Given the description of an element on the screen output the (x, y) to click on. 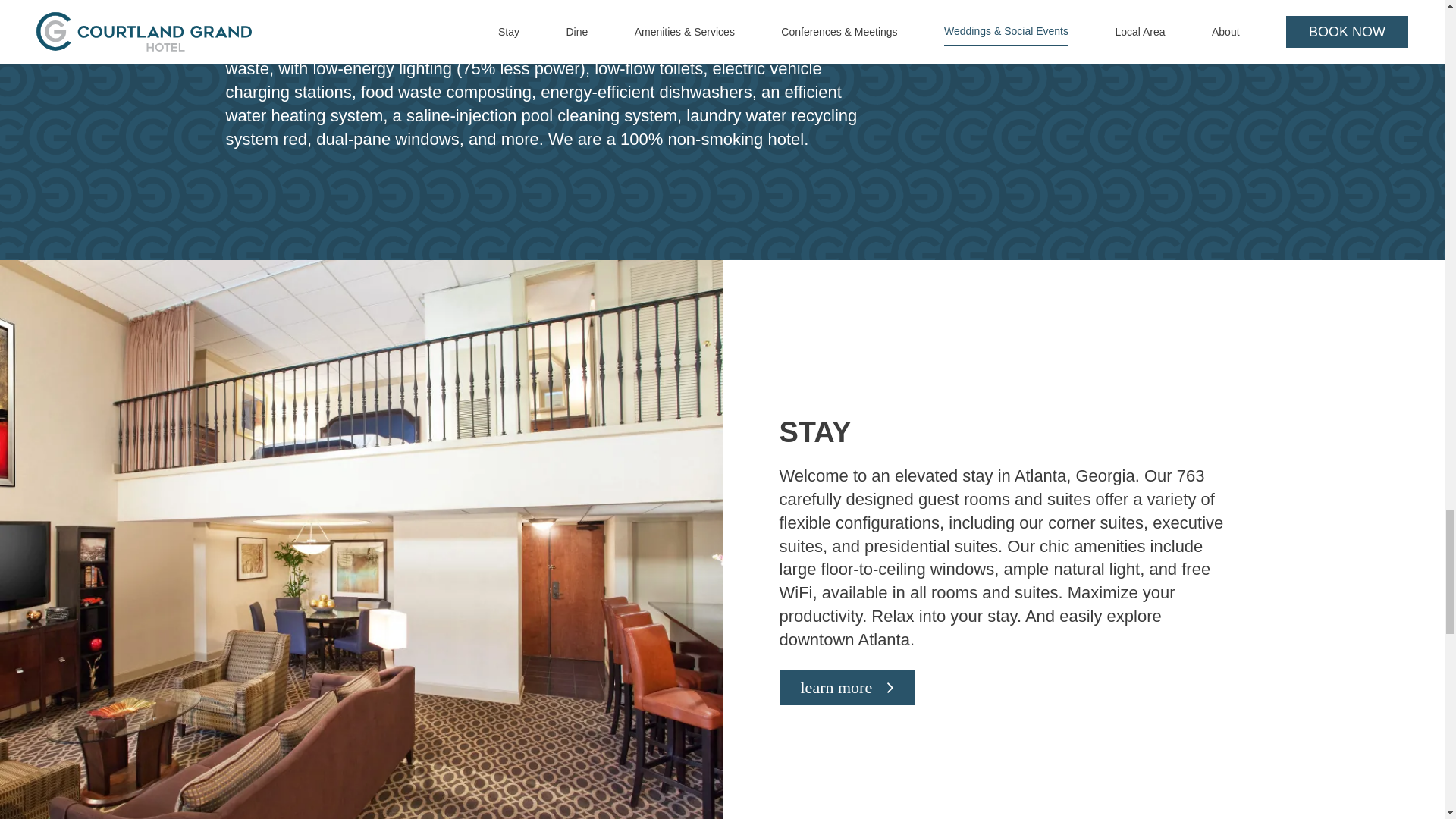
learn more (846, 687)
